Given the description of an element on the screen output the (x, y) to click on. 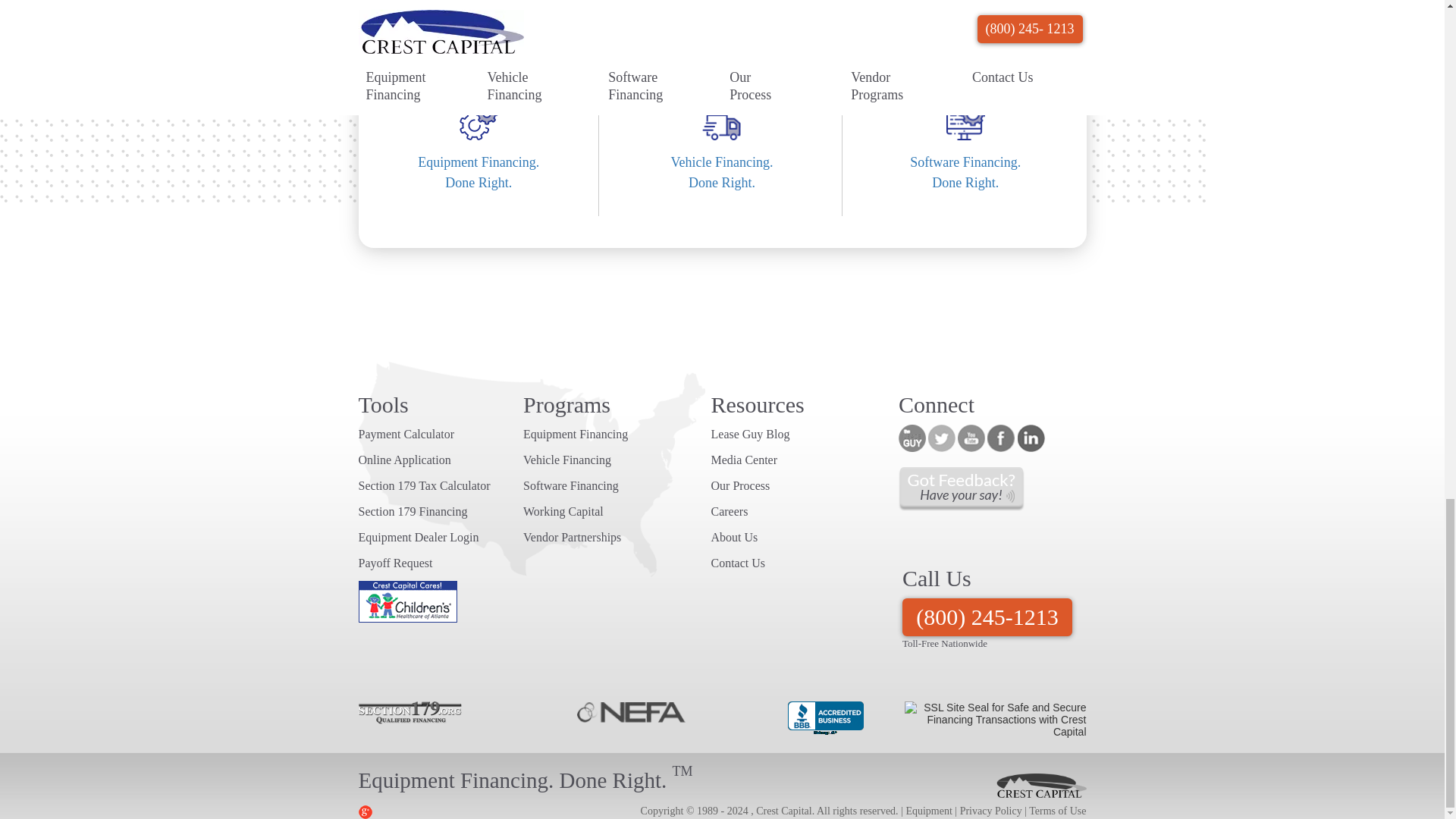
Crest Capital Linkedin (1030, 438)
Lease Guy Blog (912, 438)
Crest Capital Facebook (1000, 438)
Crest Capital YouTube (965, 183)
Review for Crest Capital Equipment Finance on Google (971, 438)
Crest Capital Ratings Review (723, 183)
Crest Capital Twitter (480, 183)
